Given the description of an element on the screen output the (x, y) to click on. 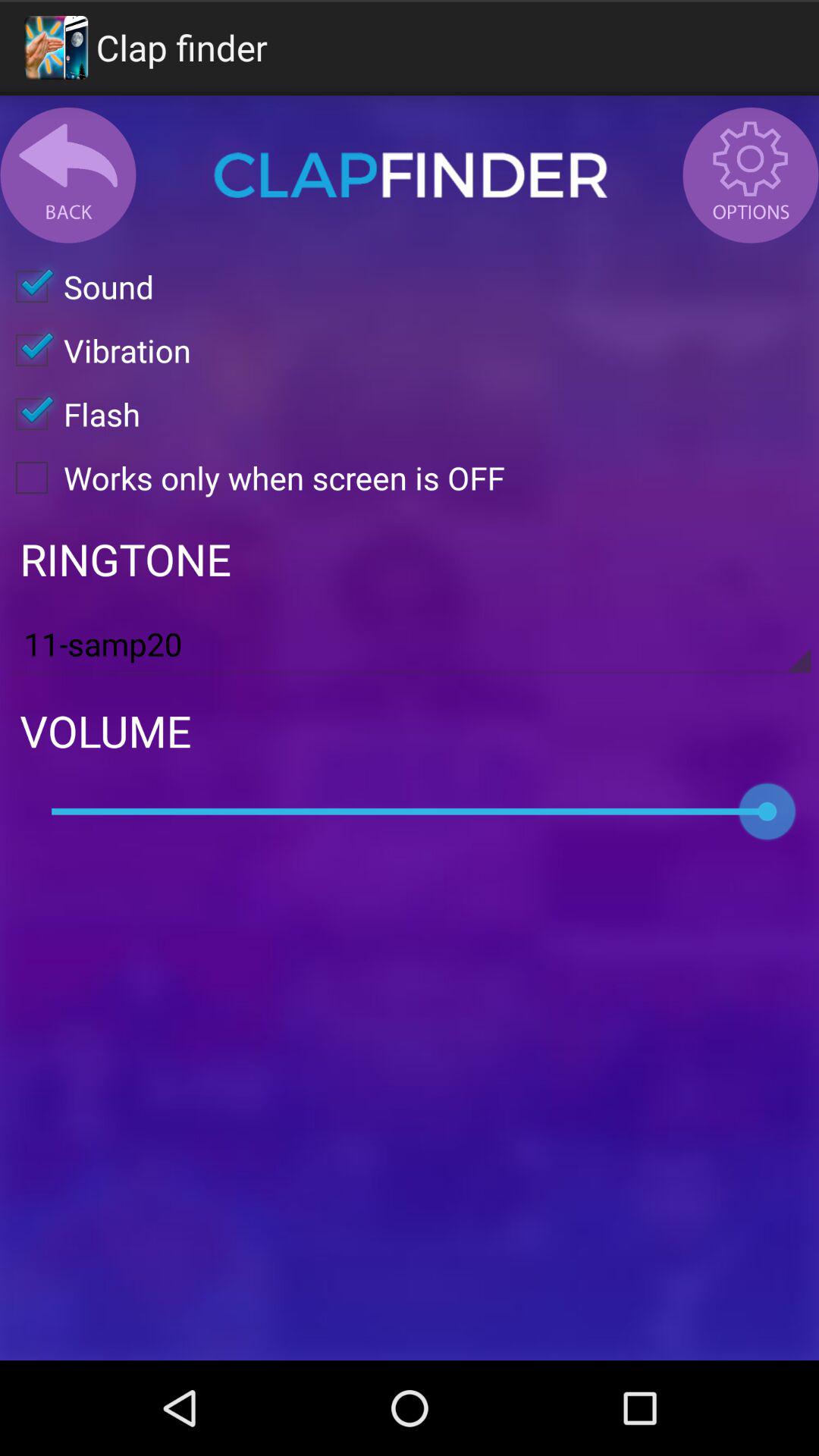
press the icon below flash checkbox (252, 477)
